Given the description of an element on the screen output the (x, y) to click on. 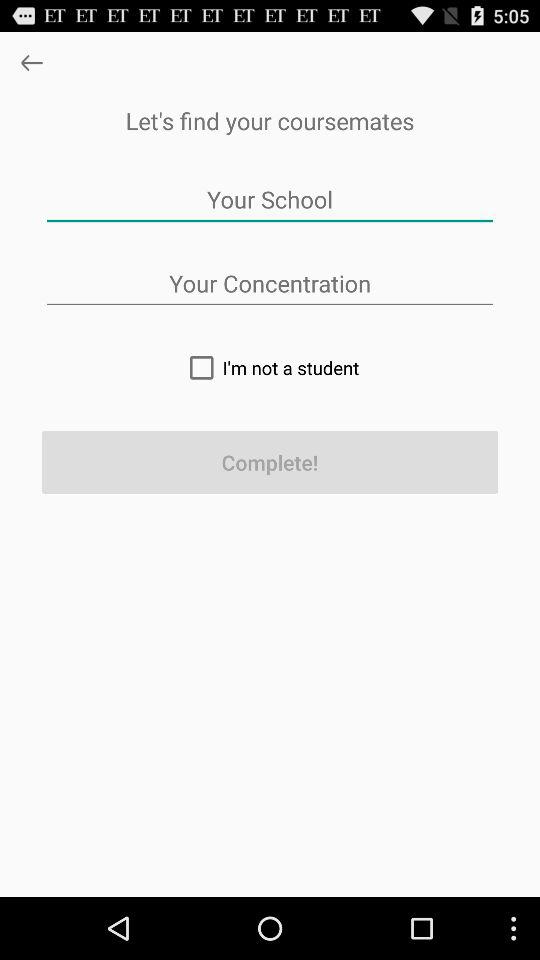
go to previous option (31, 62)
